Given the description of an element on the screen output the (x, y) to click on. 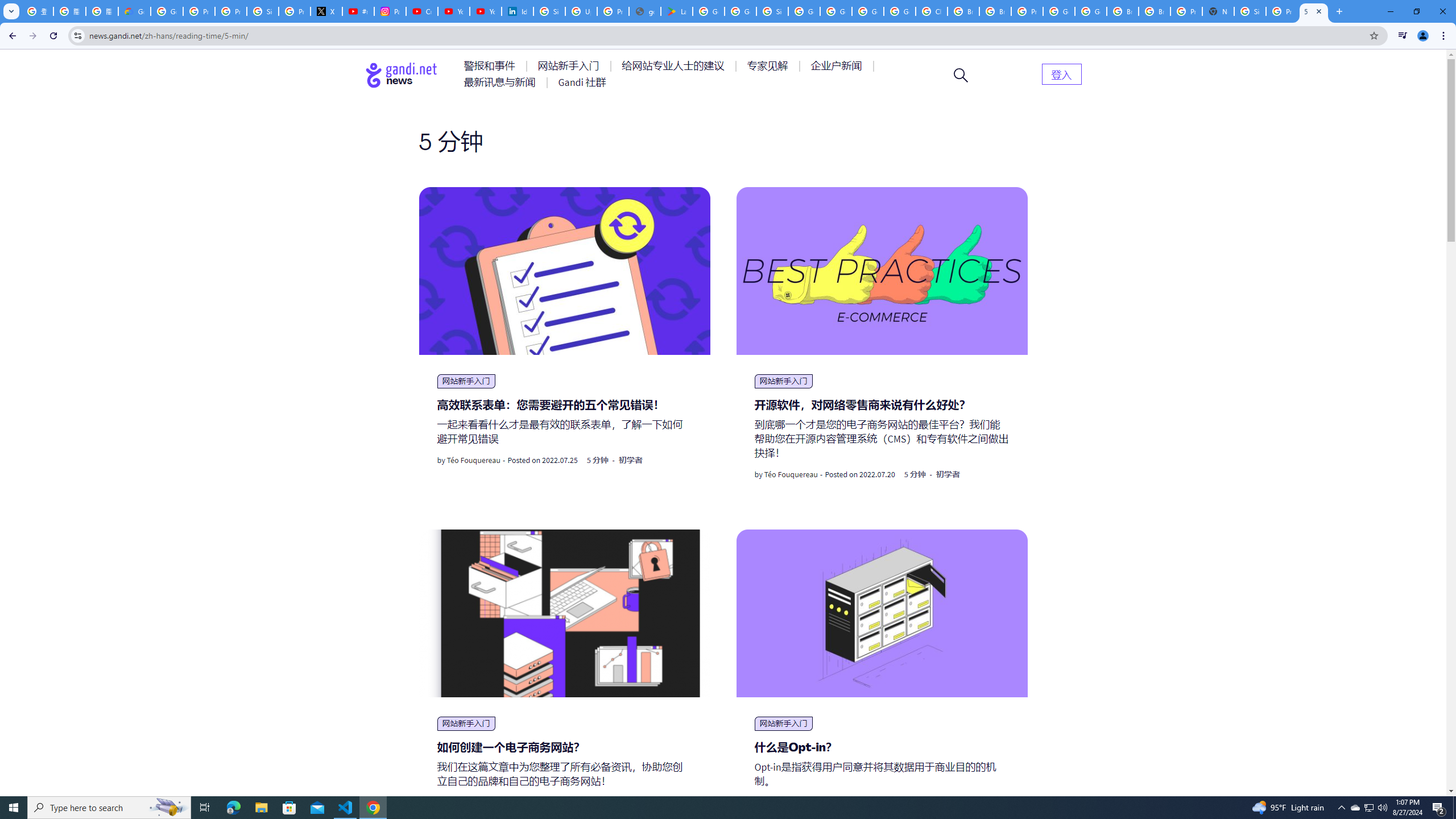
Google Cloud Platform (1091, 11)
Control your music, videos, and more (1402, 35)
Google Cloud Platform (868, 11)
AutomationID: menu-item-82399 (1061, 73)
#nbabasketballhighlights - YouTube (358, 11)
Last Shelter: Survival - Apps on Google Play (676, 11)
AutomationID: menu-item-77762 (570, 65)
AutomationID: menu-item-77765 (838, 65)
